Given the description of an element on the screen output the (x, y) to click on. 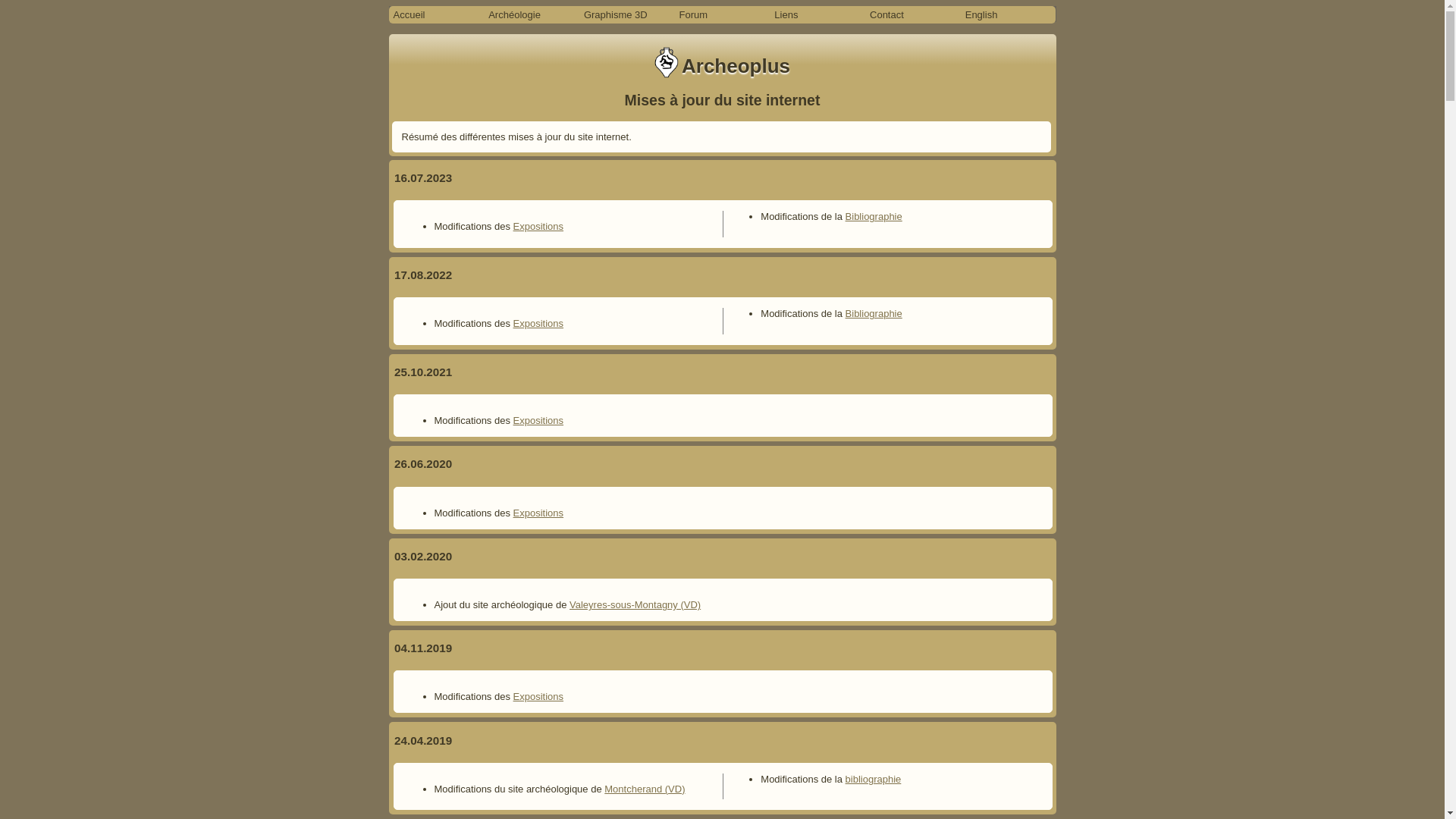
Bibliographie Element type: text (873, 216)
Graphisme 3D Element type: text (626, 14)
Expositions Element type: text (538, 696)
Forum Element type: text (722, 14)
Expositions Element type: text (538, 226)
Liens Element type: text (817, 14)
Expositions Element type: text (538, 420)
English Element type: text (1008, 14)
Contact Element type: text (912, 14)
bibliographie Element type: text (873, 778)
Expositions Element type: text (538, 512)
Bibliographie Element type: text (873, 313)
Expositions Element type: text (538, 323)
Accueil Element type: text (435, 14)
Valeyres-sous-Montagny (VD) Element type: text (634, 604)
Montcherand (VD) Element type: text (644, 788)
